Given the description of an element on the screen output the (x, y) to click on. 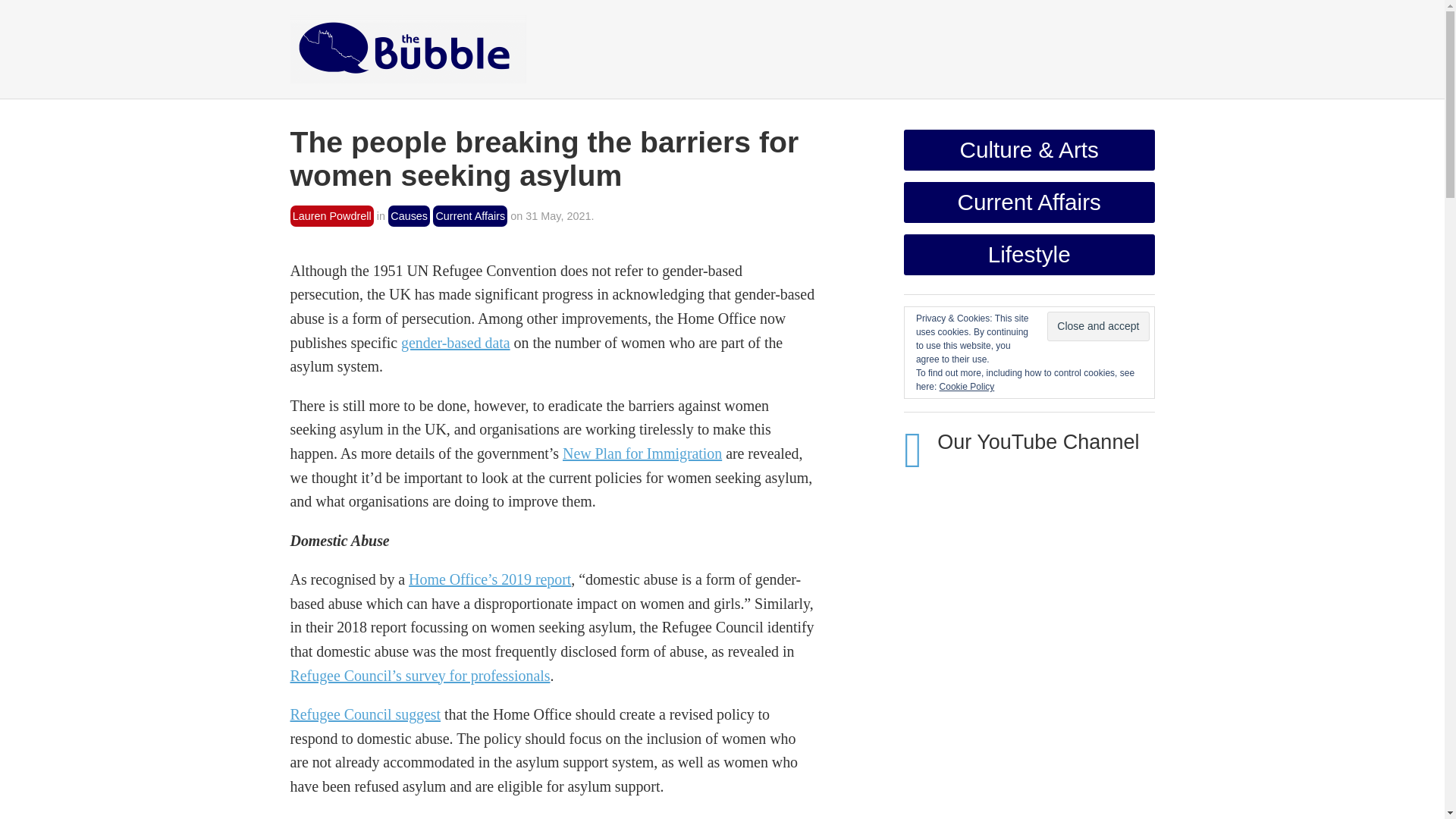
New Plan for Immigration (642, 453)
Lauren Powdrell (330, 216)
gender-based data (456, 342)
Refugee Council suggest (365, 713)
Close and accept (1097, 326)
refine their definition (664, 818)
Causes (408, 216)
Current Affairs (469, 216)
